Given the description of an element on the screen output the (x, y) to click on. 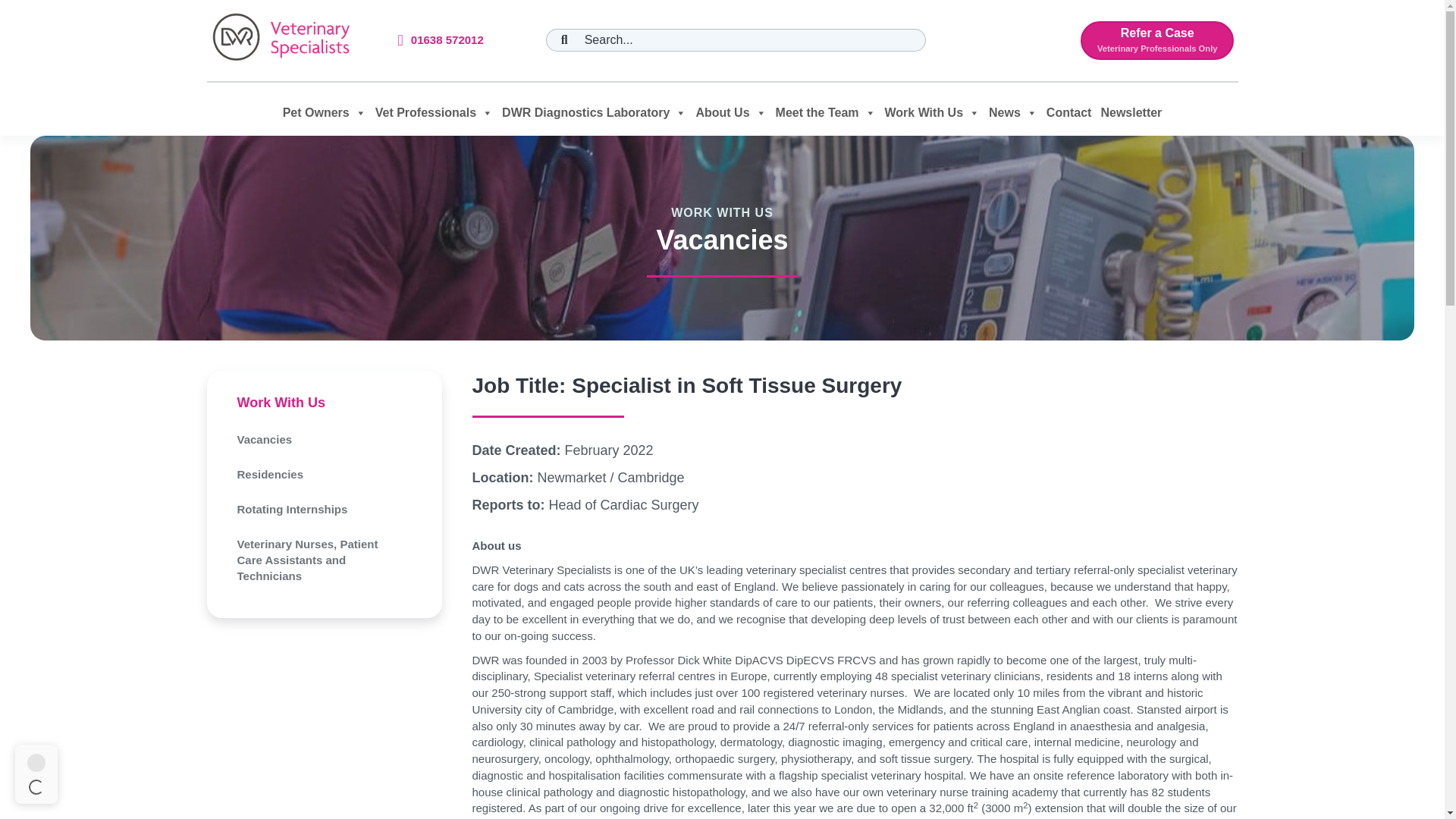
Work With Us (279, 402)
01638 572012 (446, 39)
DWR-logo-stacked-RGB (1157, 40)
